Given the description of an element on the screen output the (x, y) to click on. 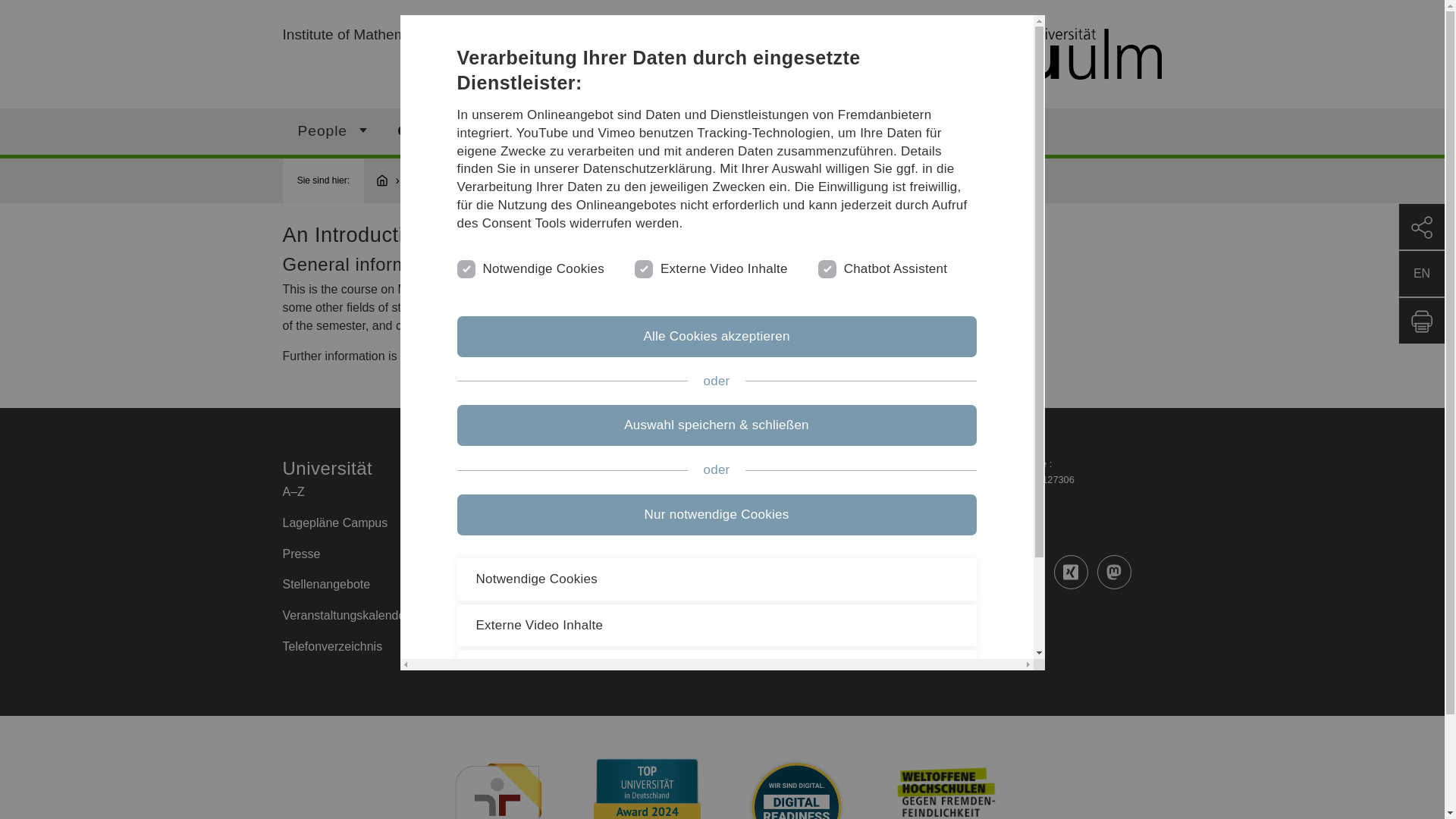
bluesky (897, 615)
external (641, 267)
xing (1070, 571)
linkedin (1027, 571)
essential (464, 267)
link to the university's moodle system (508, 355)
facebook (897, 571)
youtube (941, 571)
Suche (795, 130)
Diese Seite ausdrucken (1421, 320)
